Given the description of an element on the screen output the (x, y) to click on. 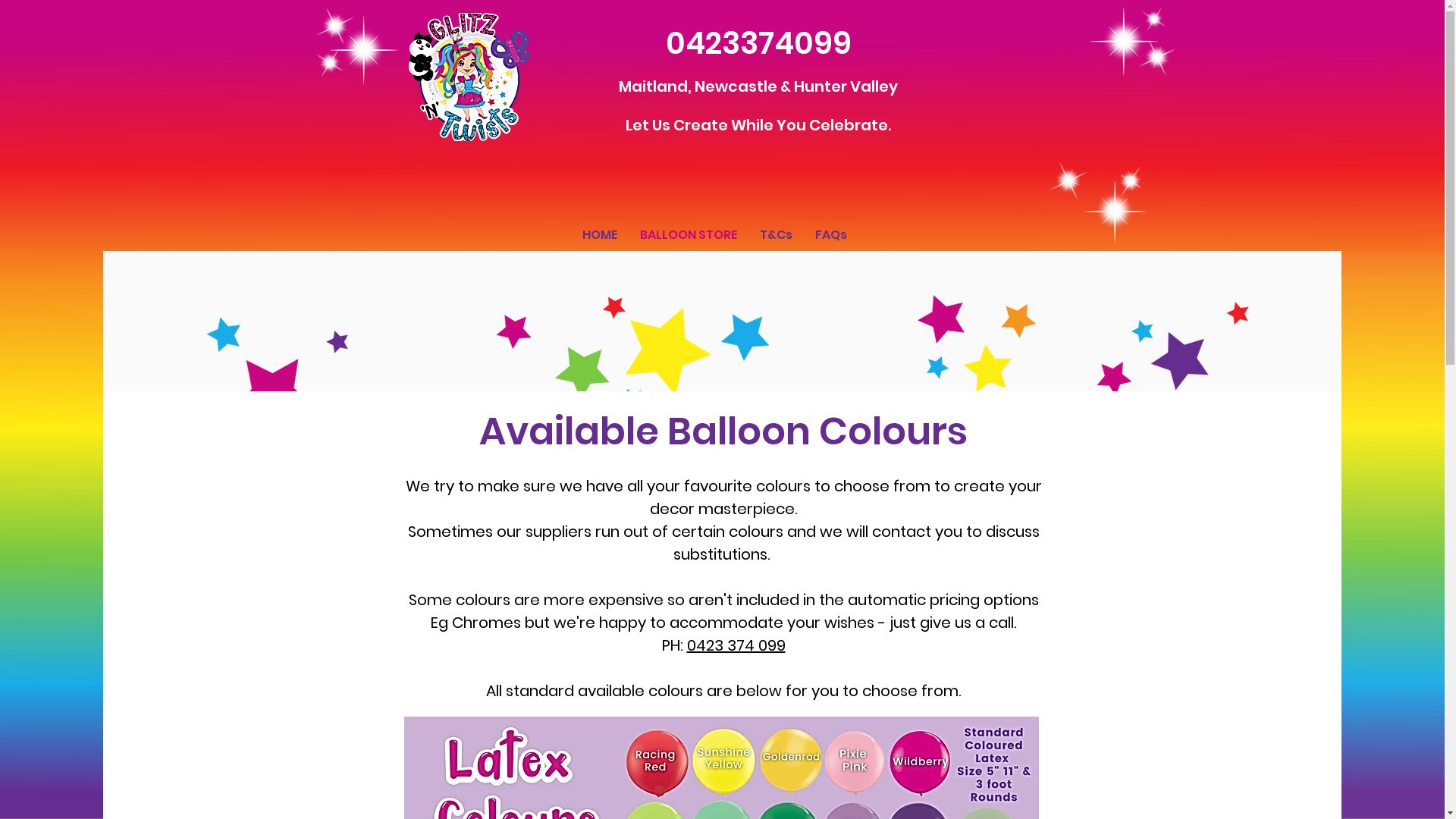
T&Cs Element type: text (775, 234)
0423374099 Element type: text (758, 42)
HOME Element type: text (598, 234)
BALLOON STORE Element type: text (687, 234)
0423 374 099 Element type: text (736, 644)
FAQs Element type: text (830, 234)
